Given the description of an element on the screen output the (x, y) to click on. 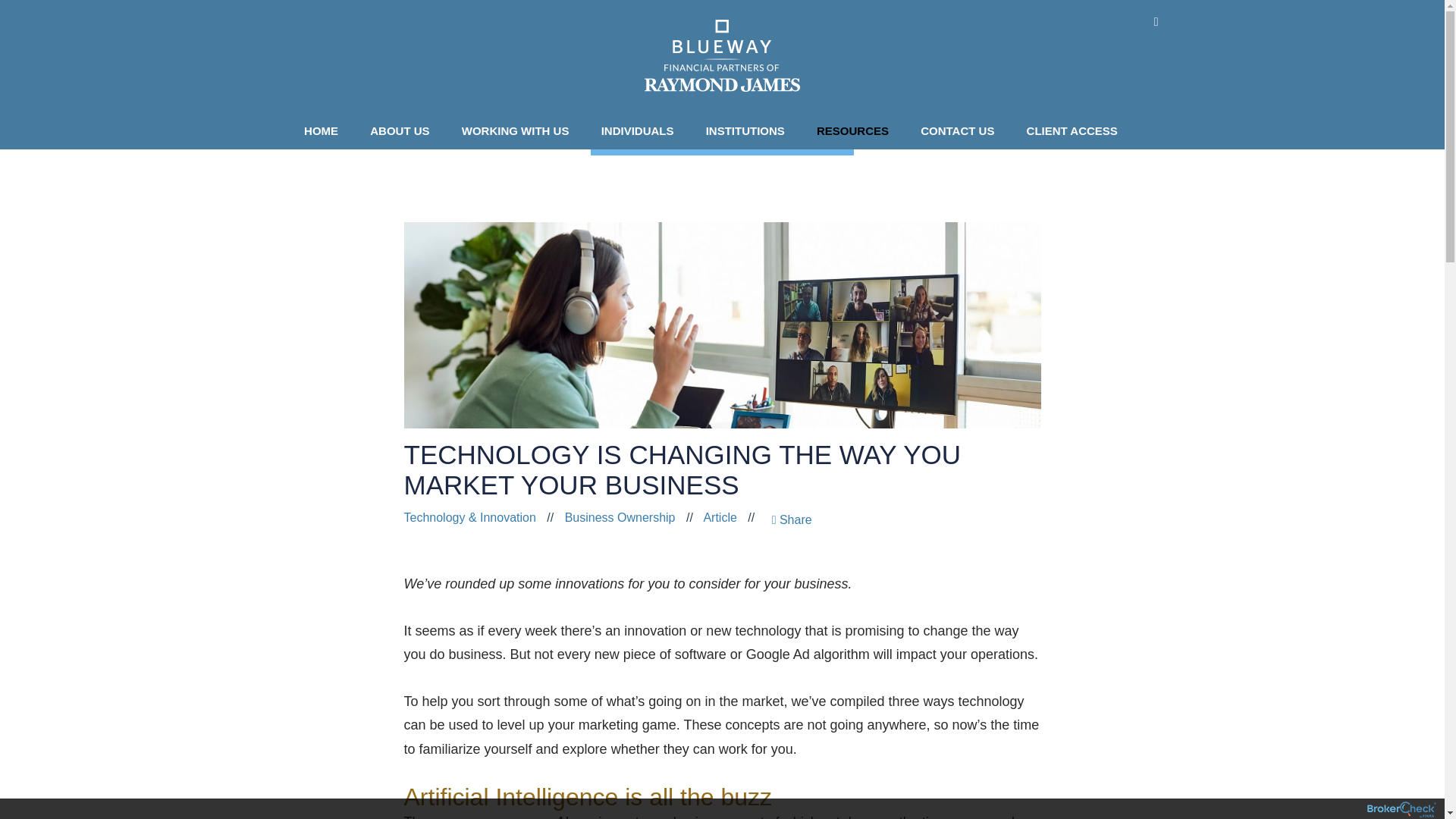
INDIVIDUALS (641, 130)
HOME (325, 130)
ABOUT US (402, 130)
INSTITUTIONS (748, 130)
envelope (1156, 21)
RESOURCES (856, 130)
WORKING WITH US (518, 130)
